Given the description of an element on the screen output the (x, y) to click on. 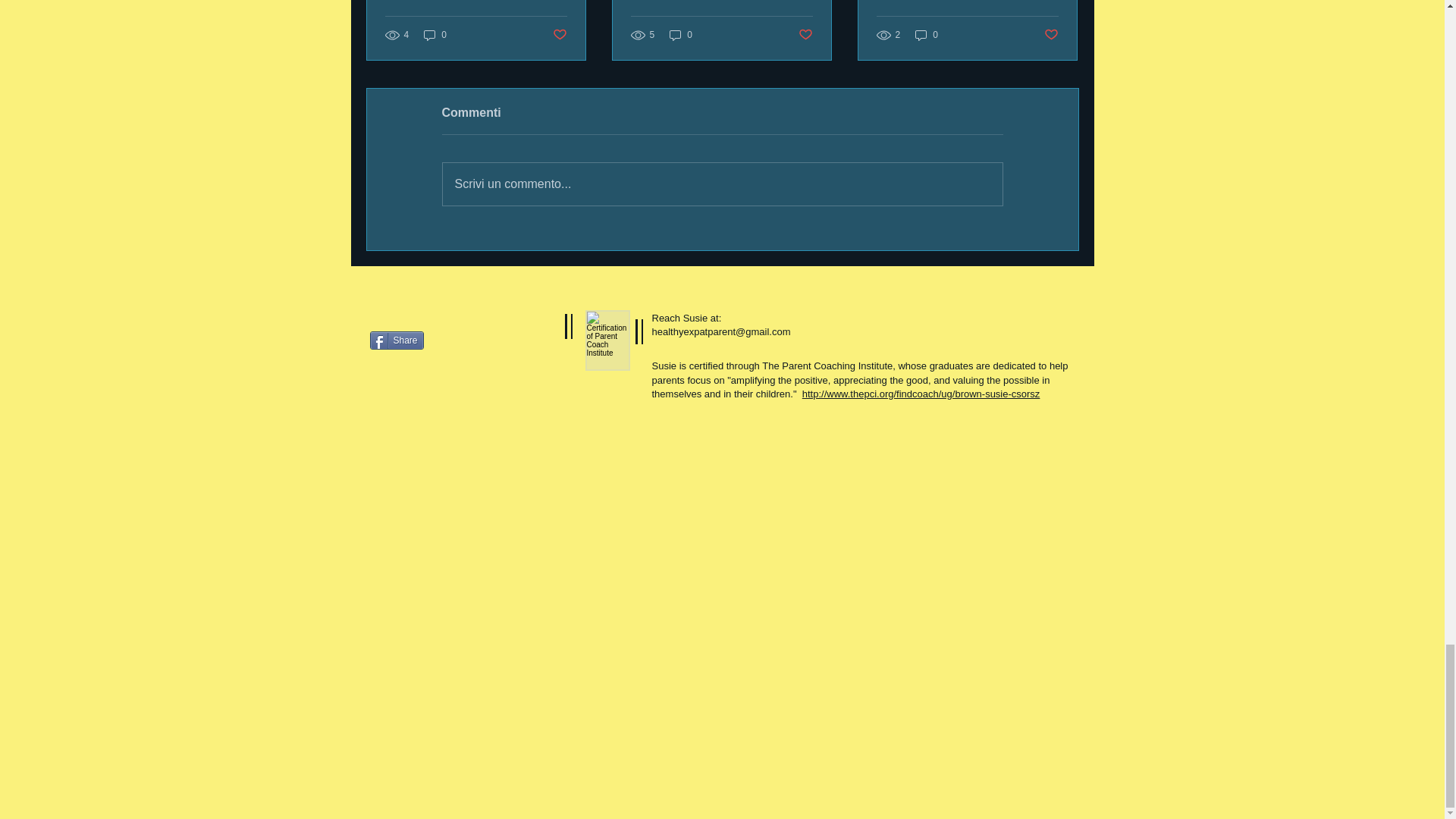
Facebook Like (464, 385)
Share (396, 340)
